Given the description of an element on the screen output the (x, y) to click on. 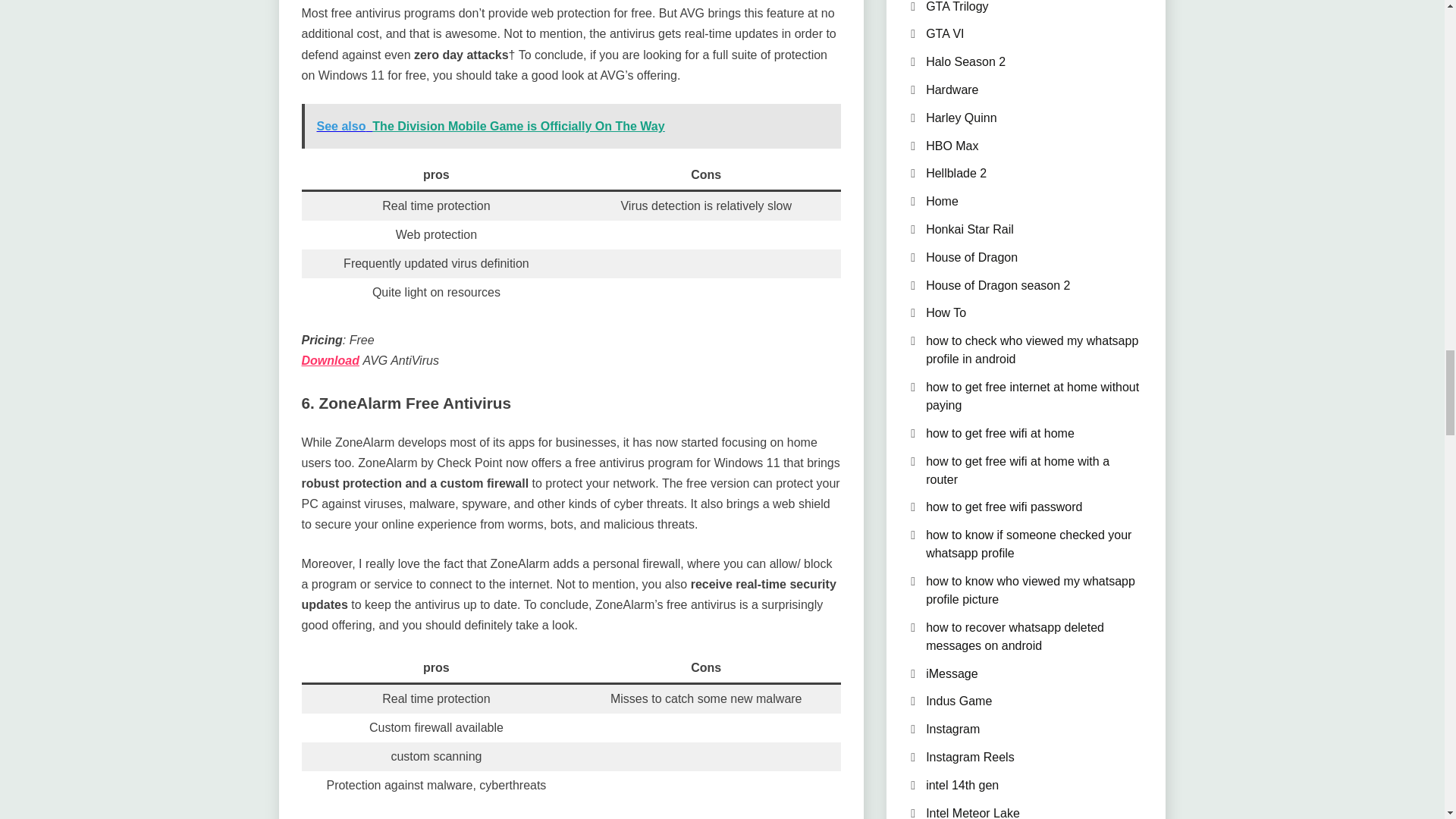
Download (330, 359)
See also  The Division Mobile Game is Officially On The Way (571, 126)
